Given the description of an element on the screen output the (x, y) to click on. 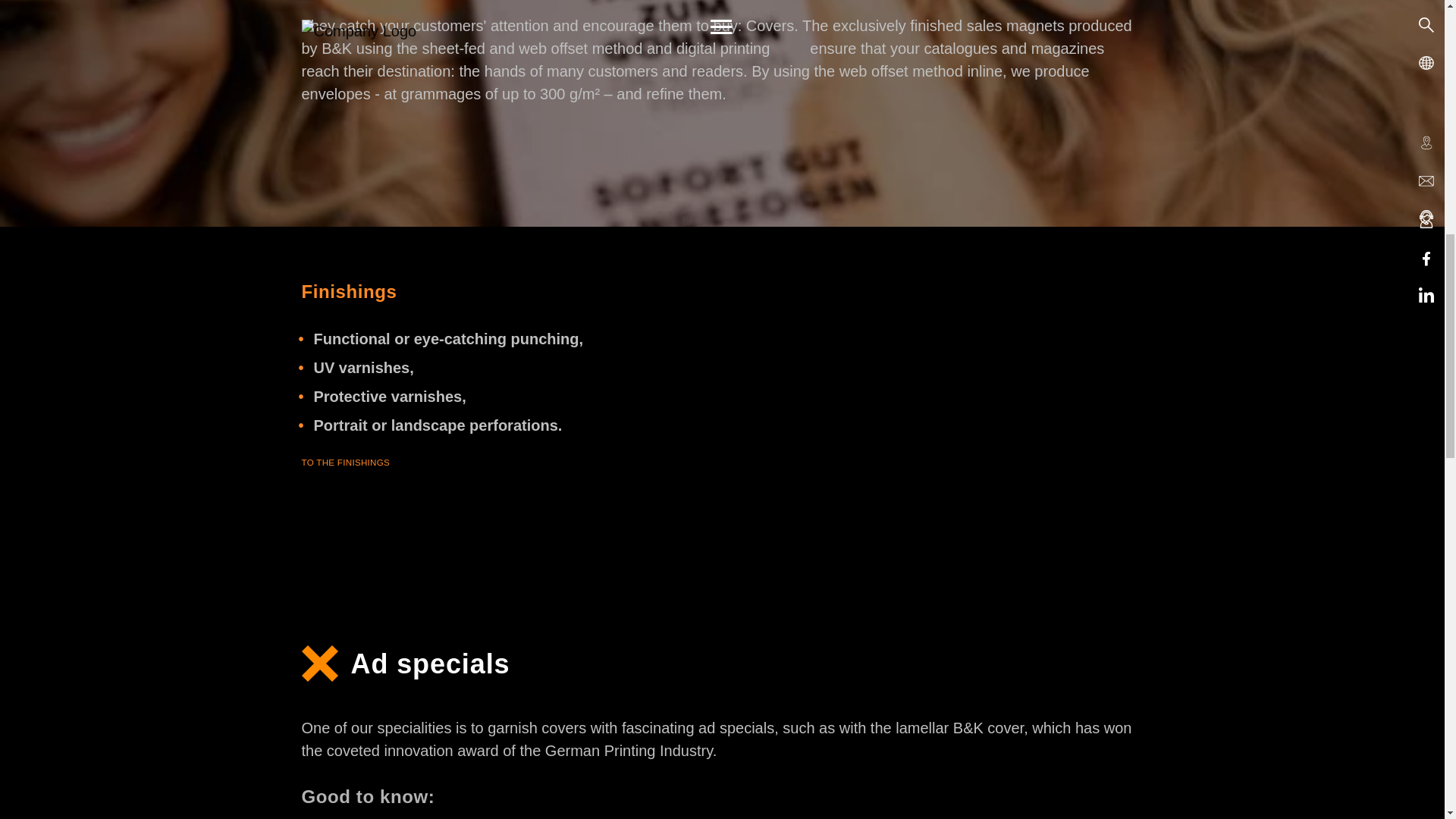
To the Finishings (345, 461)
